Given the description of an element on the screen output the (x, y) to click on. 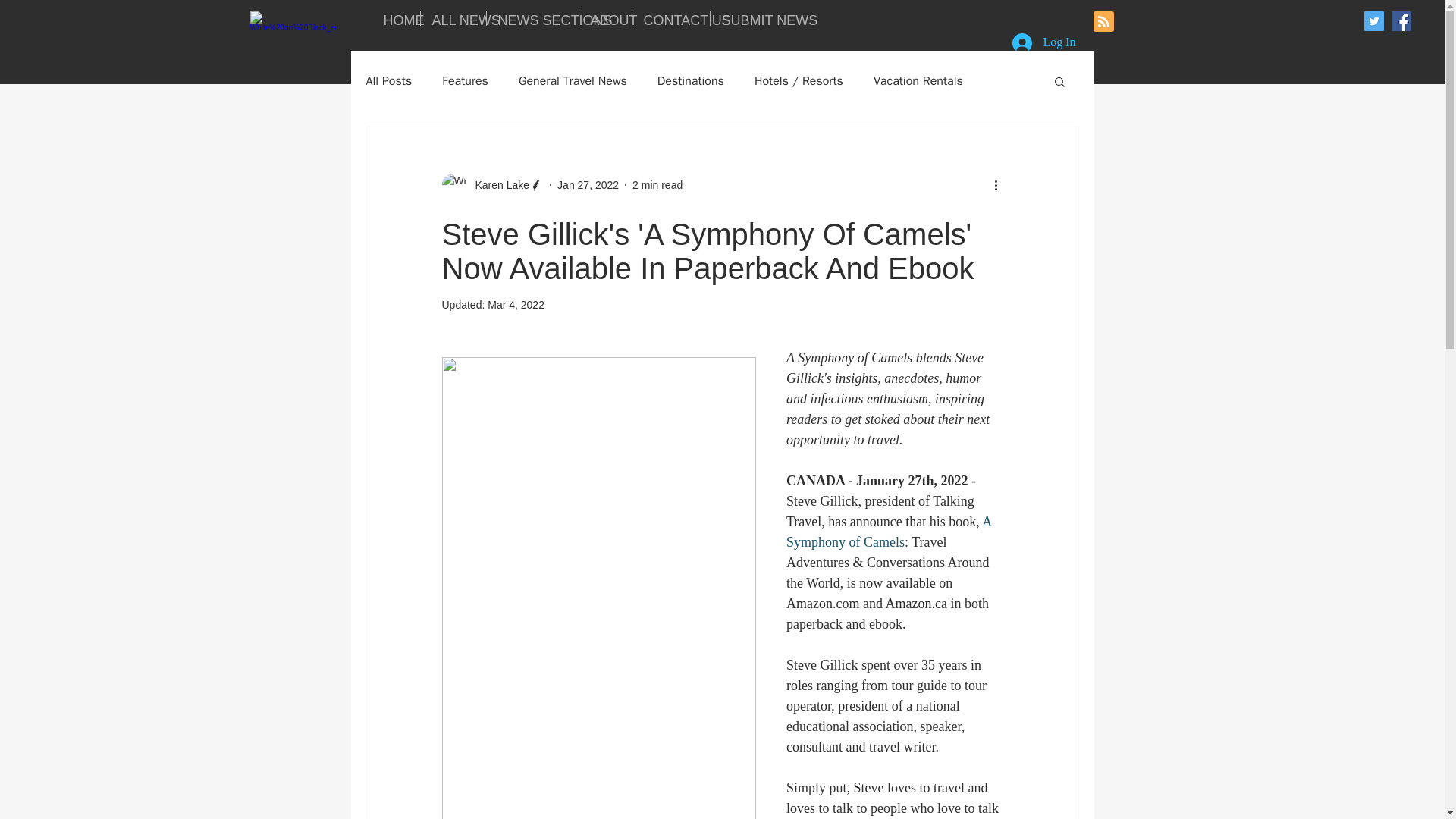
Mar 4, 2022 (515, 304)
2 min read (656, 184)
Log In (1043, 42)
General Travel News (572, 80)
Features (464, 80)
ALL NEWS (452, 18)
Jan 27, 2022 (587, 184)
All Posts (388, 80)
Vacation Rentals (917, 80)
Destinations (690, 80)
